Given the description of an element on the screen output the (x, y) to click on. 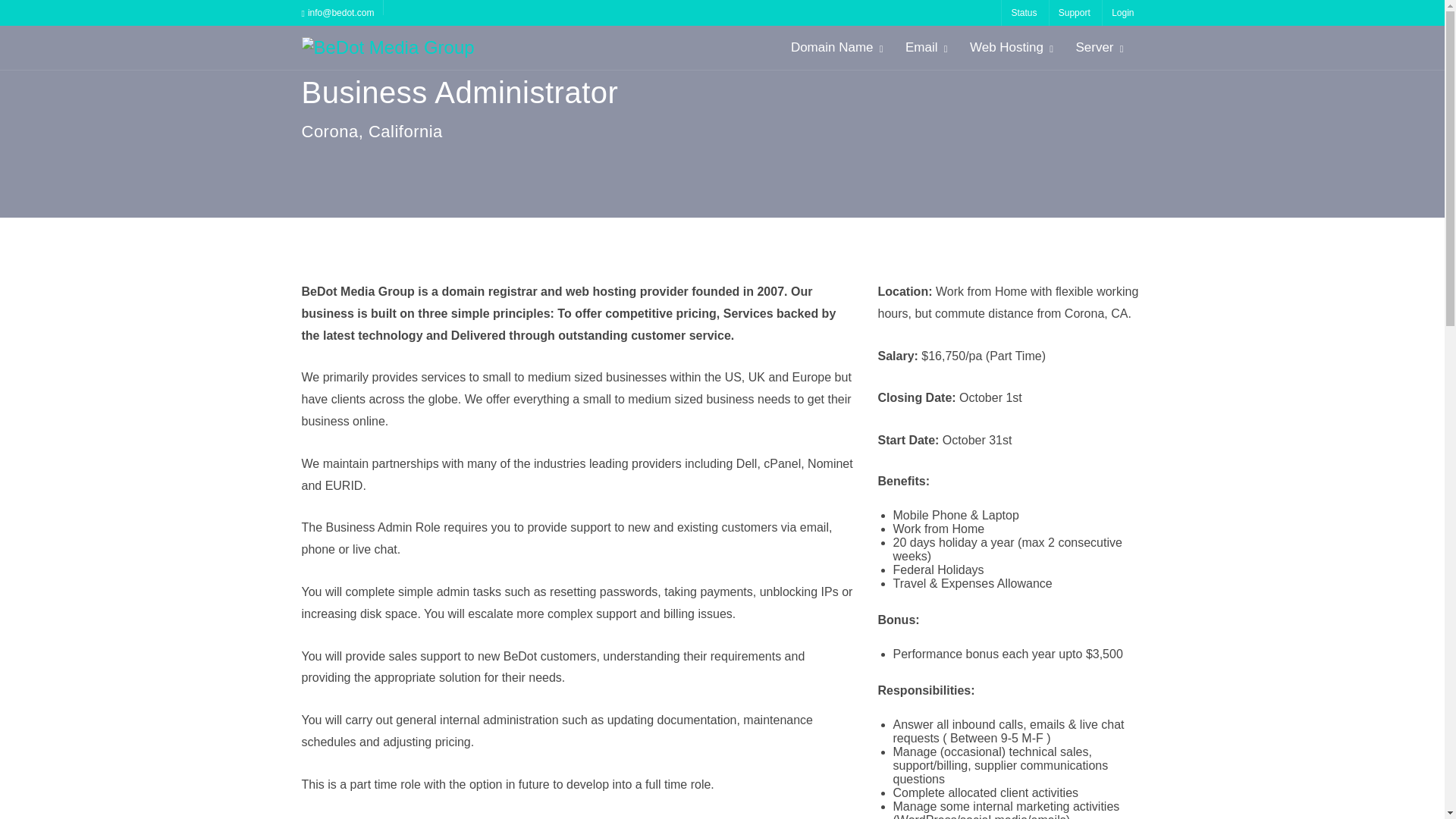
Support (1073, 12)
Domain Name (835, 47)
Email (924, 47)
Status (1023, 12)
Login (1122, 12)
Server (1098, 47)
Web Hosting (1010, 47)
